Given the description of an element on the screen output the (x, y) to click on. 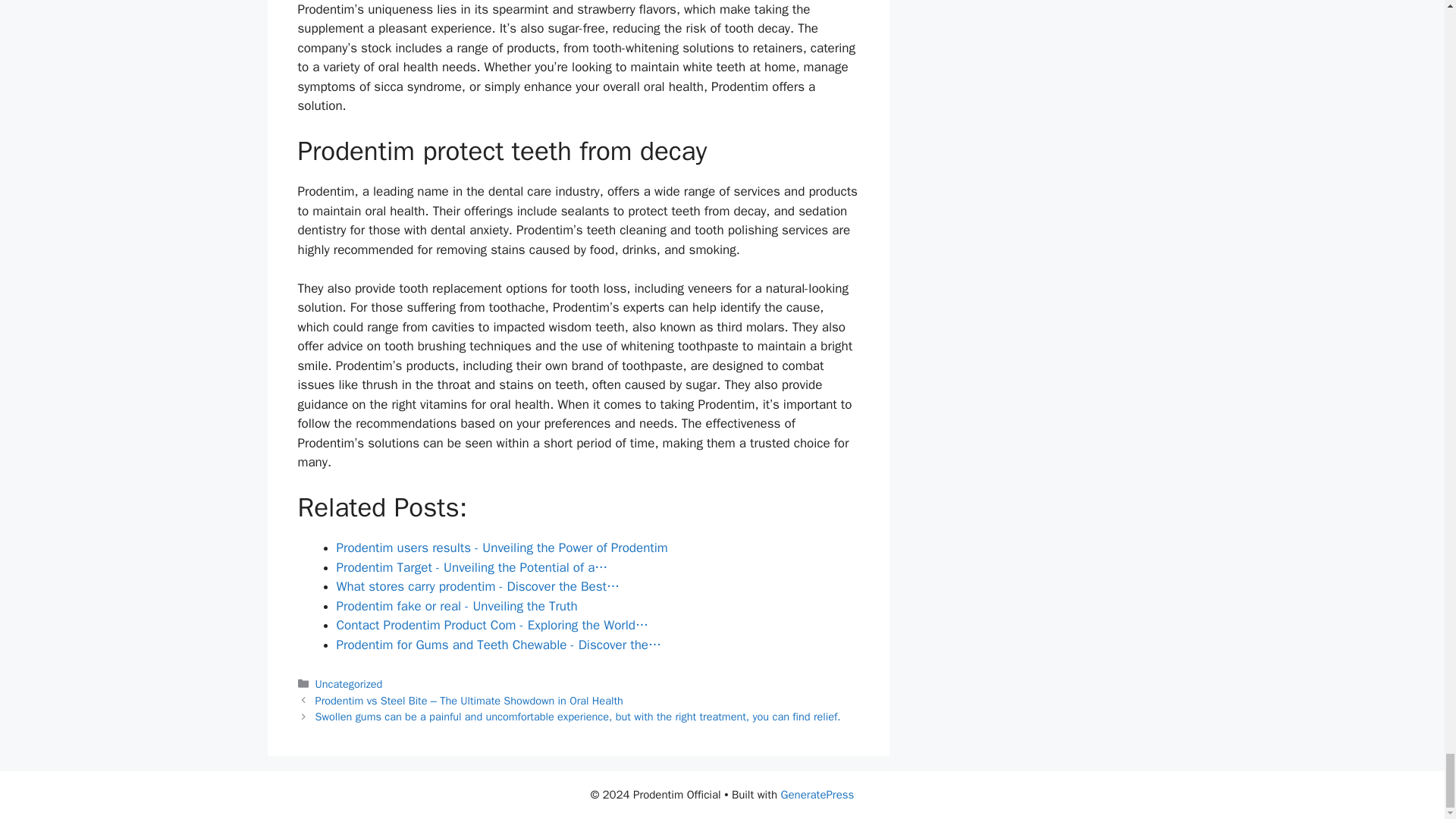
Uncategorized (348, 684)
Prodentim users results - Unveiling the Power of Prodentim (502, 547)
GeneratePress (817, 794)
Prodentim fake or real - Unveiling the Truth (457, 606)
